Given the description of an element on the screen output the (x, y) to click on. 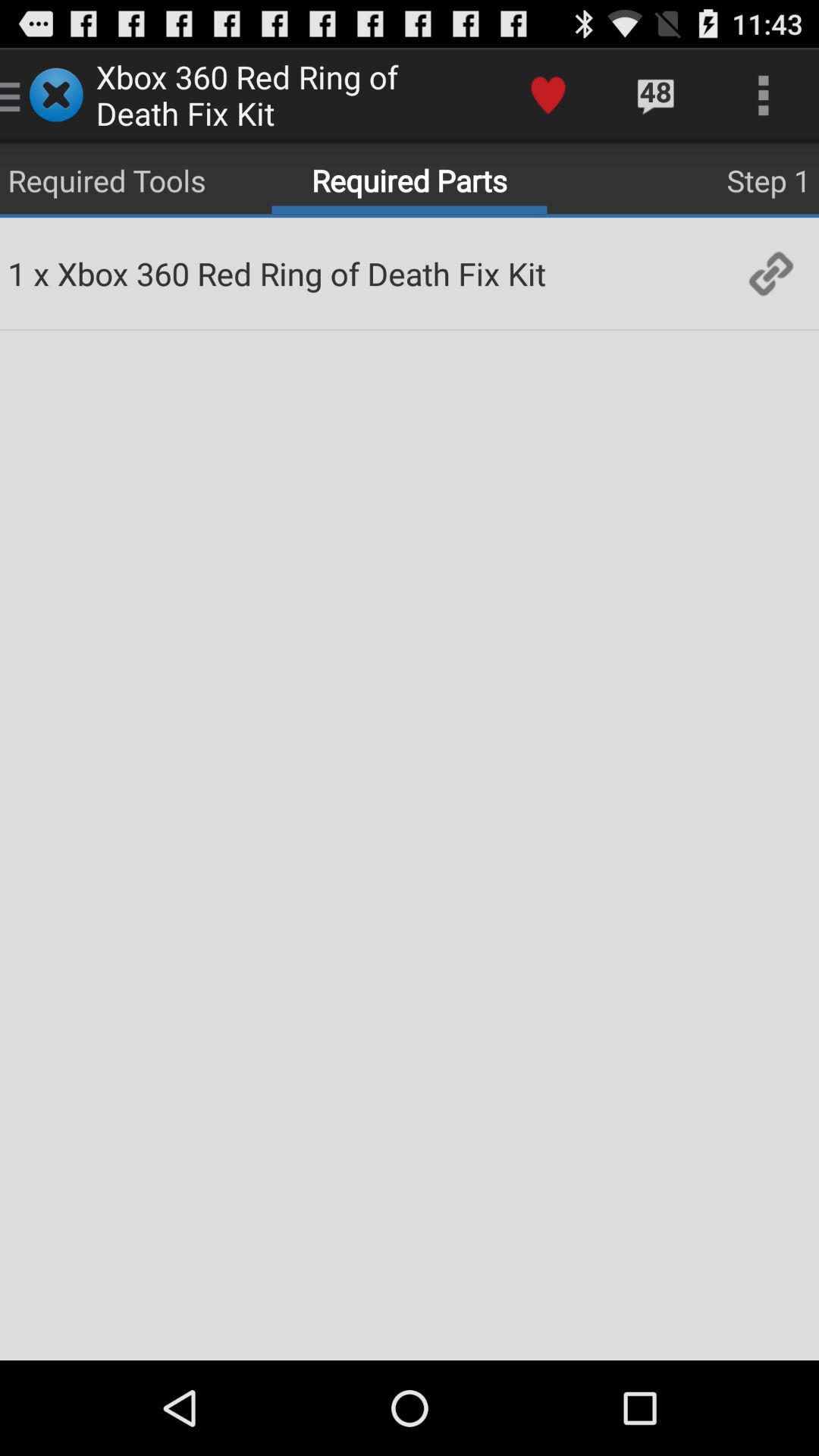
choose 1 icon (16, 273)
